Given the description of an element on the screen output the (x, y) to click on. 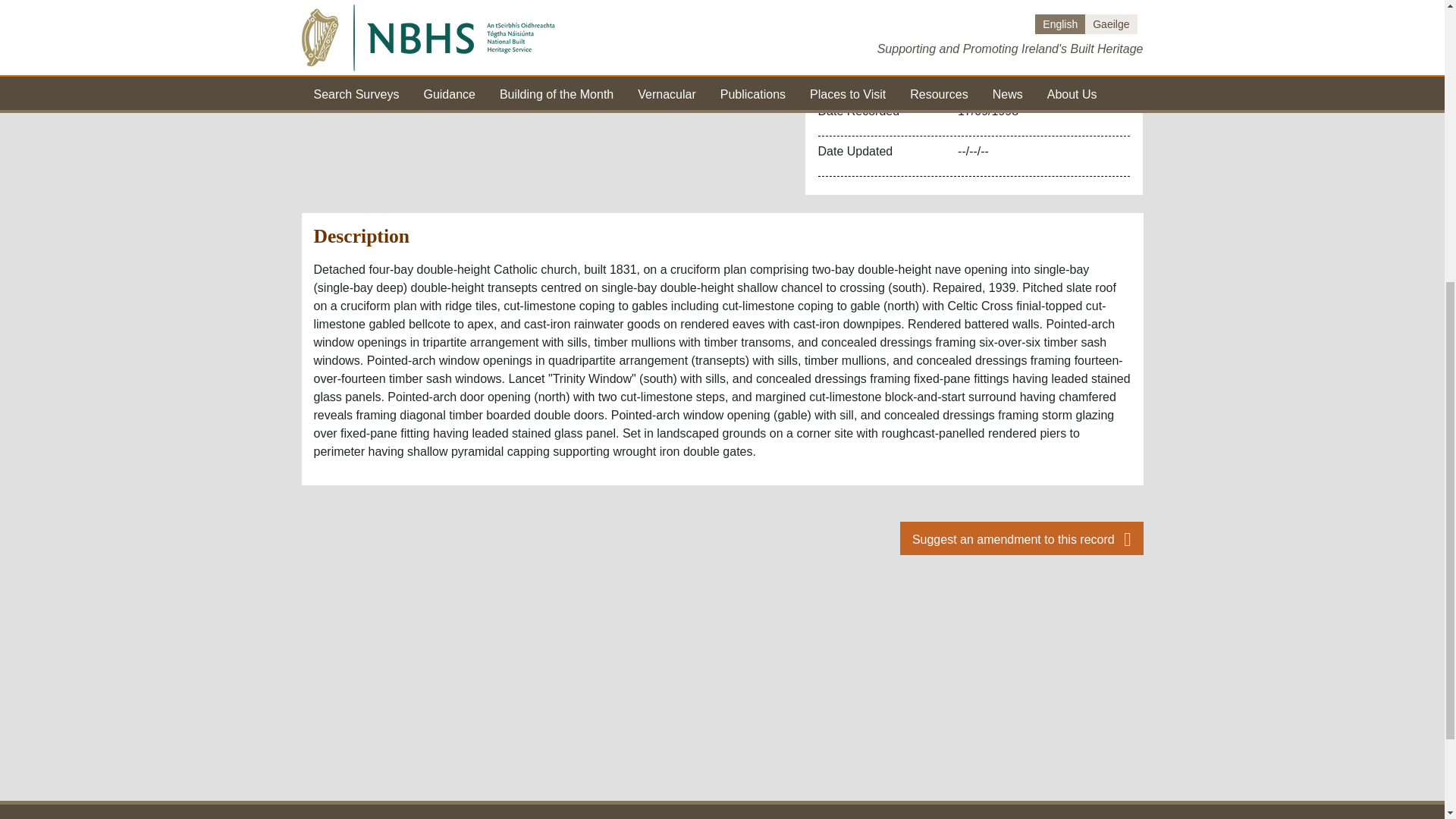
Suggest an amendment to this record (1020, 538)
View on map (708, 1)
